Given the description of an element on the screen output the (x, y) to click on. 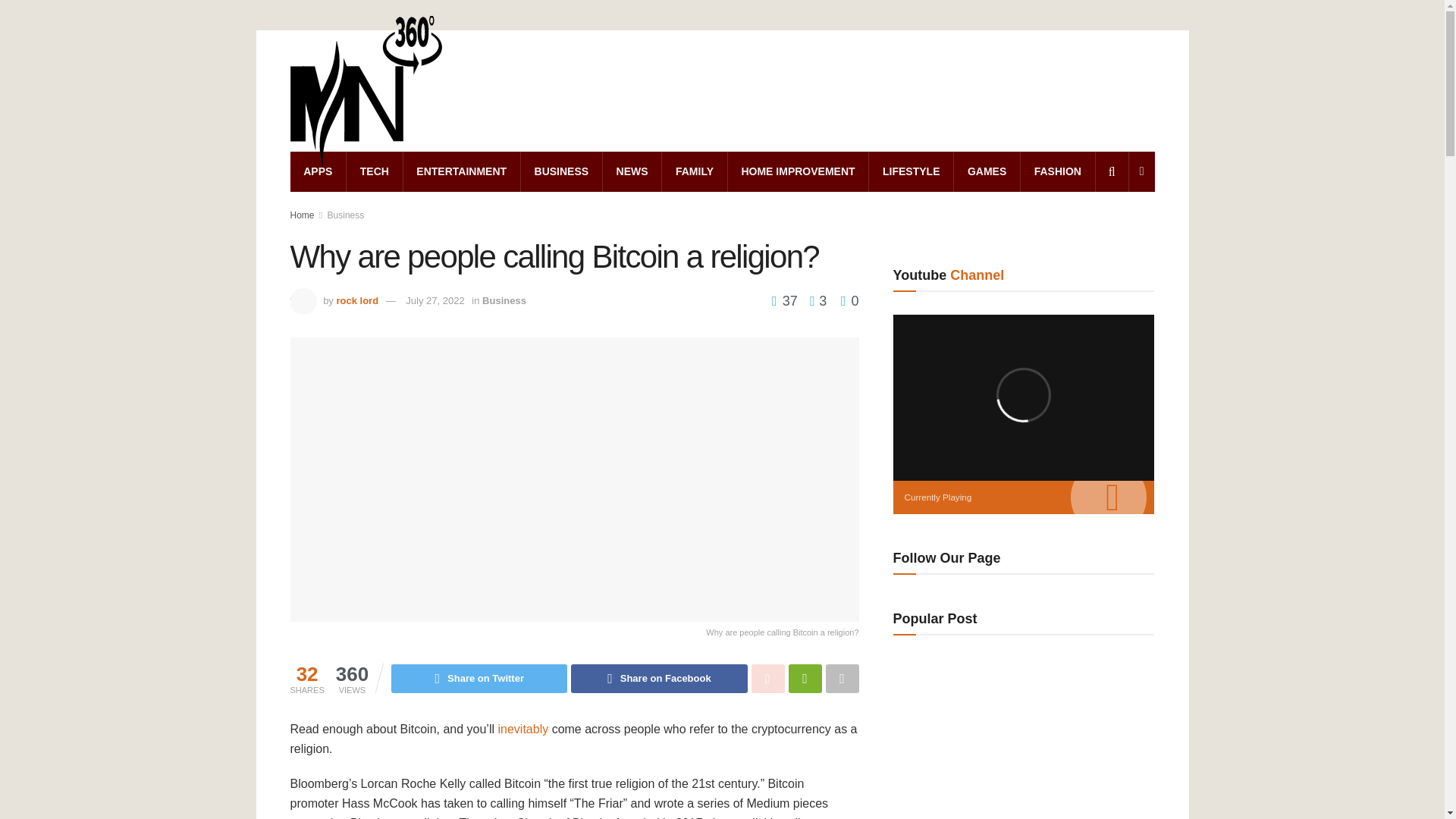
BUSINESS (561, 171)
0 (850, 300)
LIFESTYLE (911, 171)
3 (814, 300)
FAMILY (694, 171)
Share on Facebook (658, 678)
APPS (317, 171)
37 (786, 300)
Share on Twitter (479, 678)
NEWS (631, 171)
GAMES (986, 171)
FASHION (1057, 171)
Home (301, 214)
July 27, 2022 (435, 300)
